Given the description of an element on the screen output the (x, y) to click on. 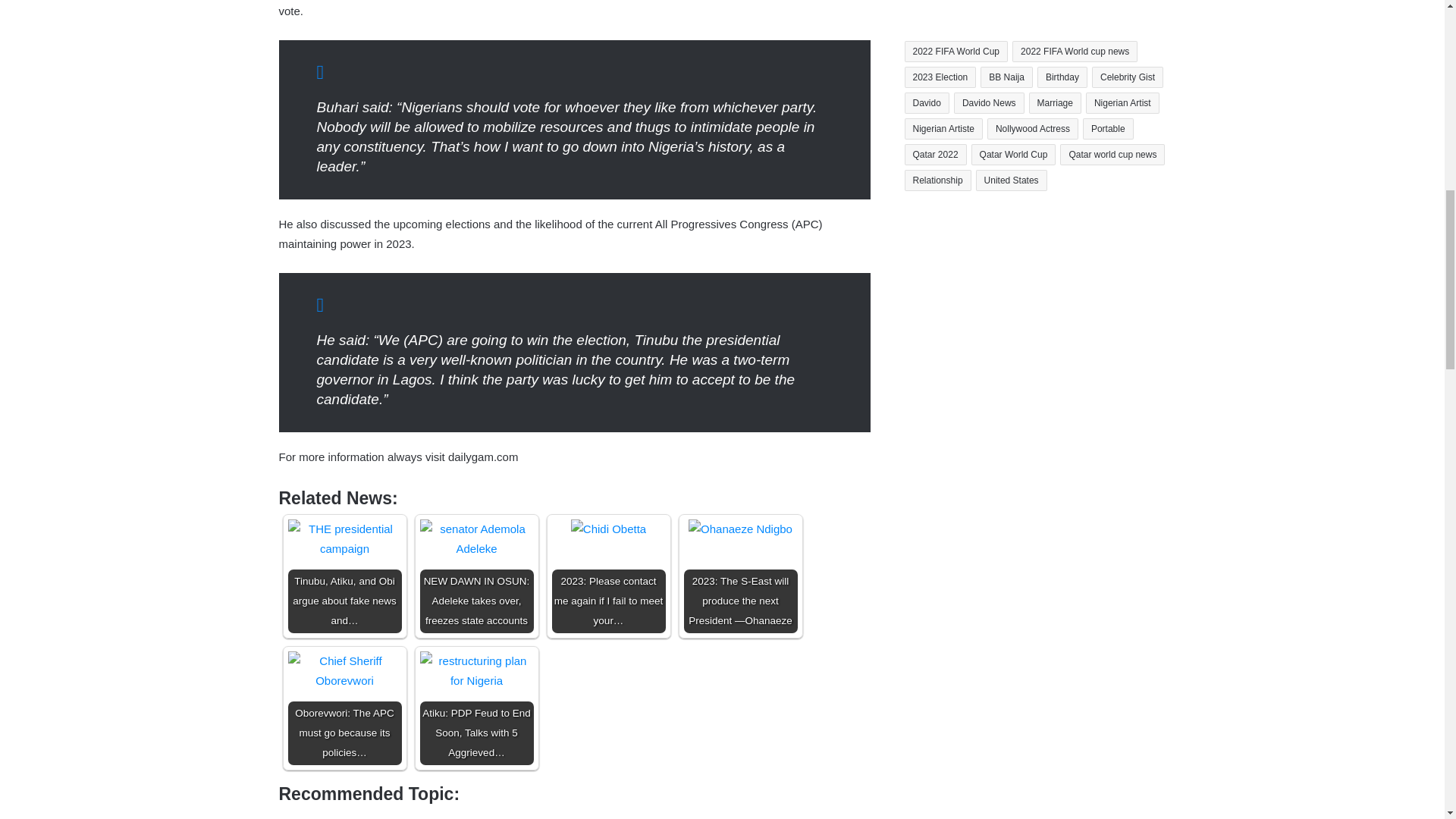
NEW DAWN IN OSUN: Adeleke takes over, freezes state accounts (477, 538)
NEW DAWN IN OSUN: Adeleke takes over, freezes state accounts (477, 576)
